Given the description of an element on the screen output the (x, y) to click on. 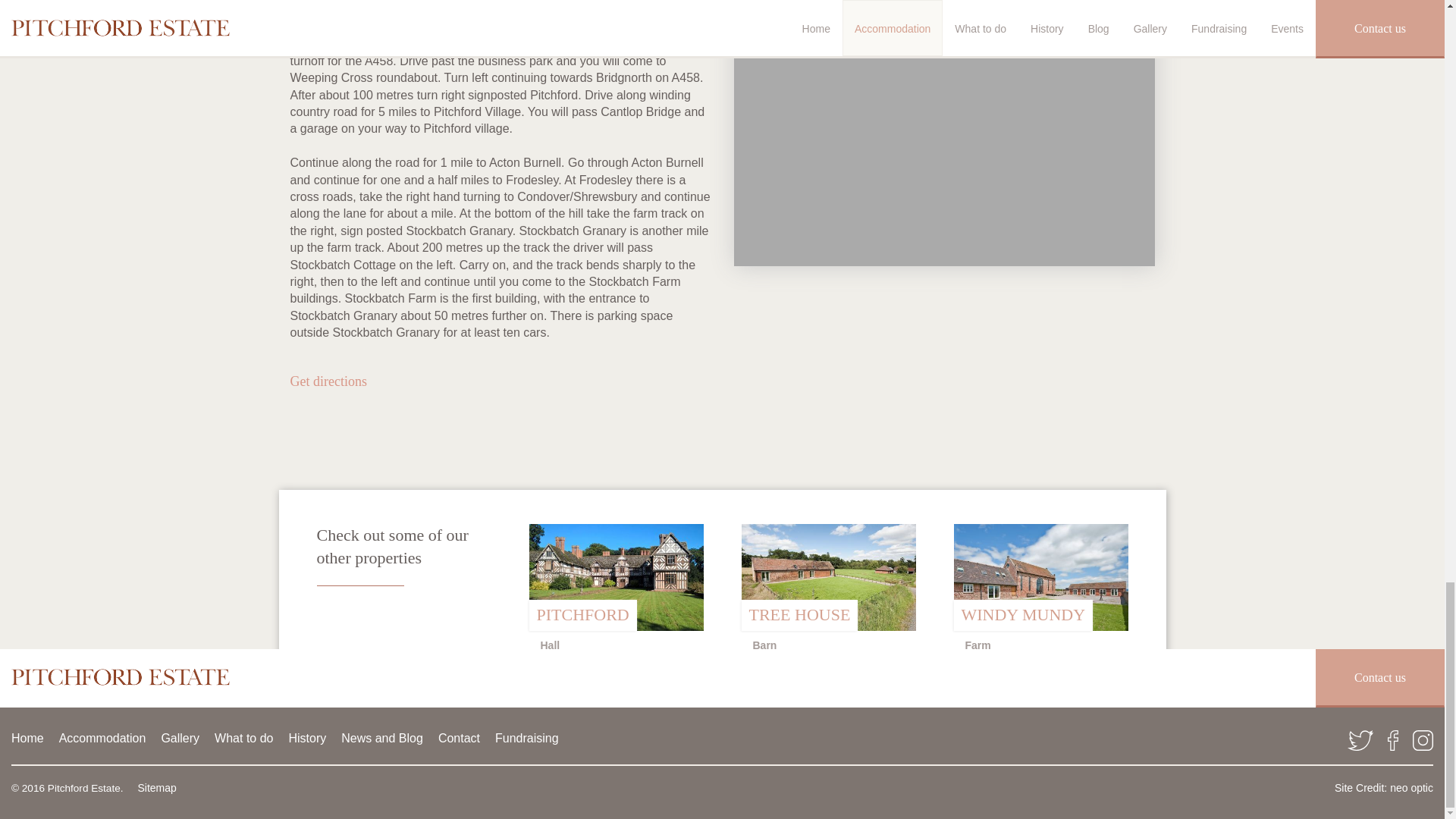
Windy Mundy Farm  in the sunshine (1040, 577)
